Given the description of an element on the screen output the (x, y) to click on. 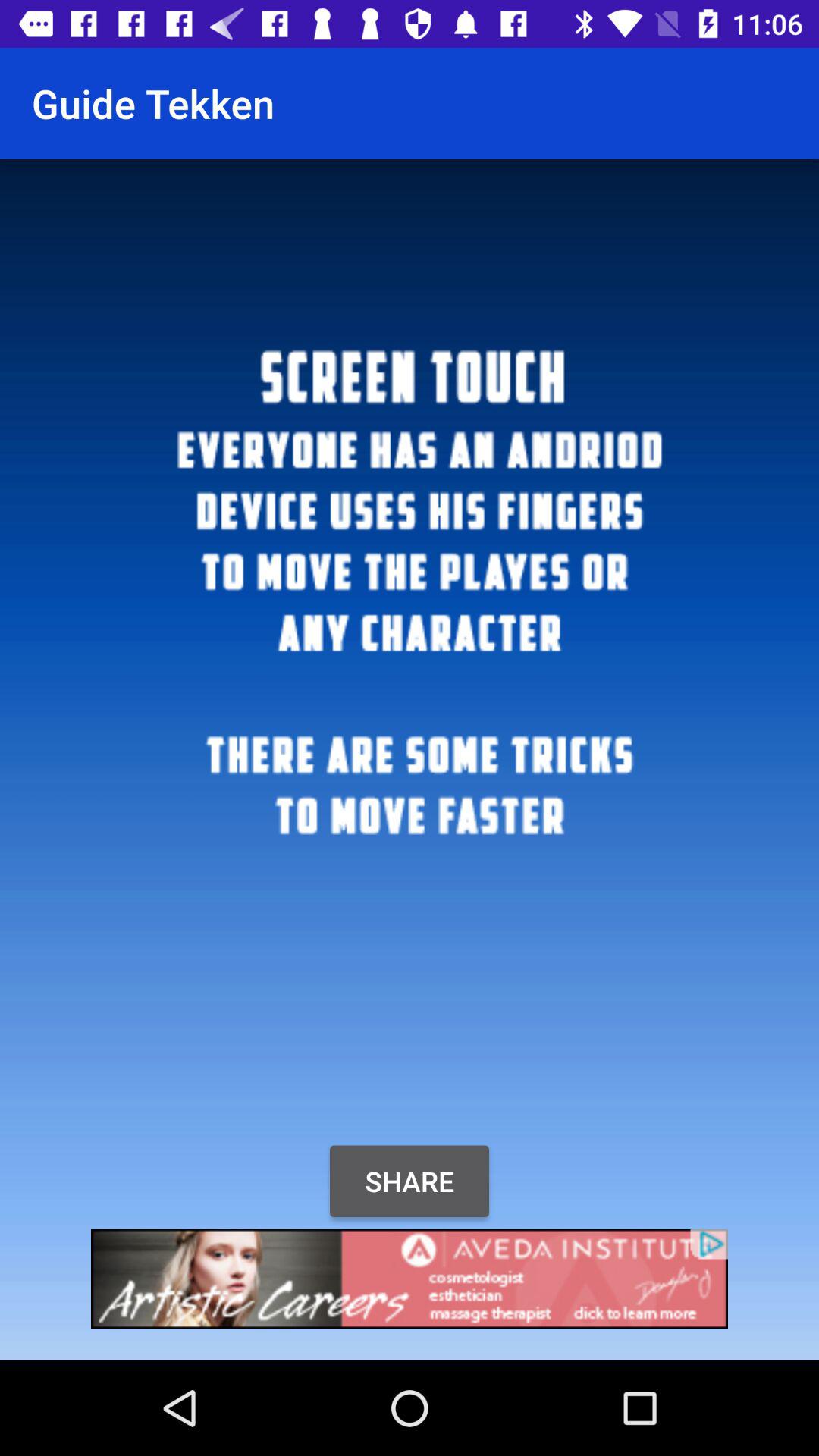
view the advertisement (409, 1278)
